Given the description of an element on the screen output the (x, y) to click on. 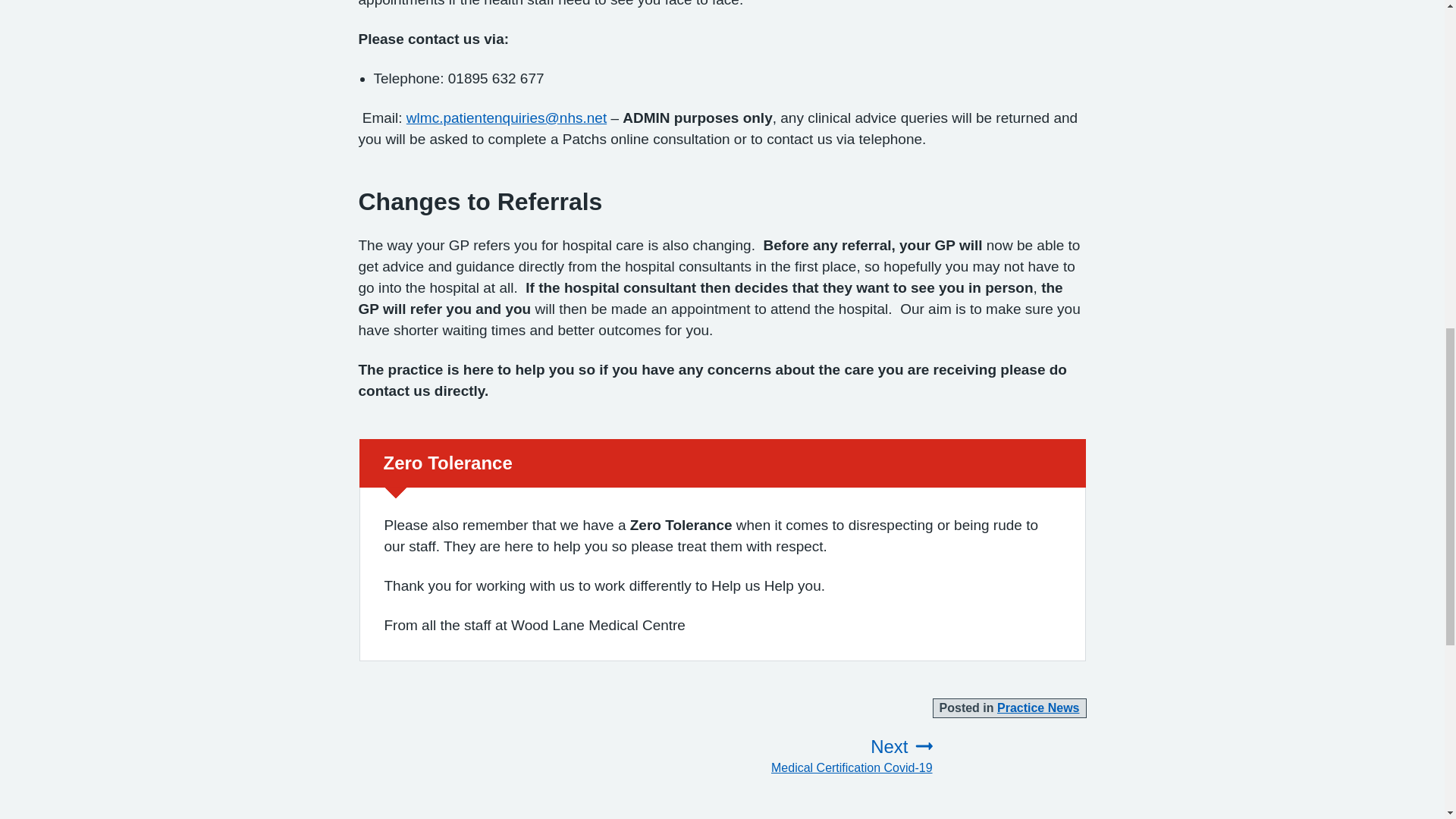
Practice News (1038, 707)
